Given the description of an element on the screen output the (x, y) to click on. 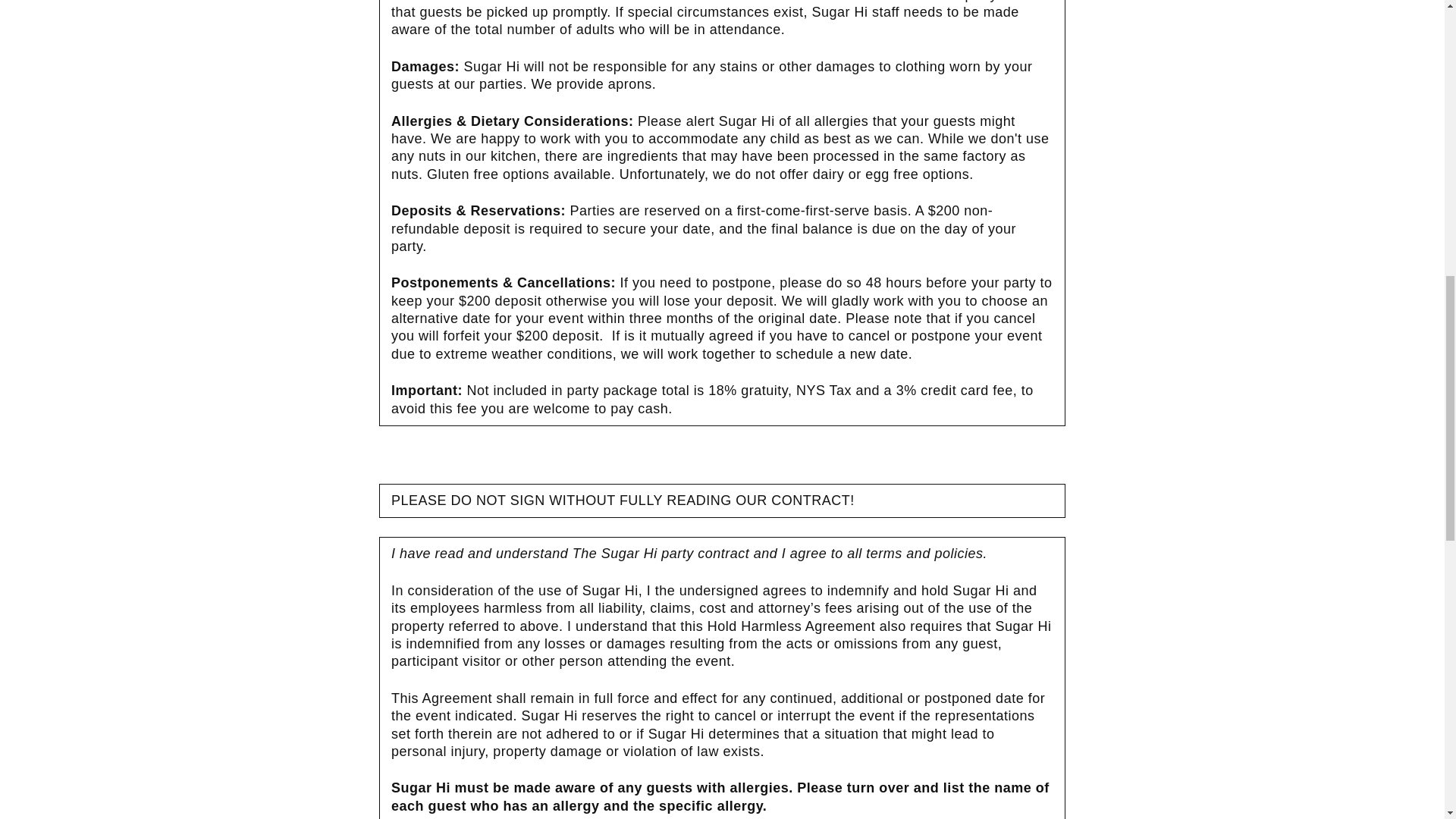
MENU (162, 46)
